Given the description of an element on the screen output the (x, y) to click on. 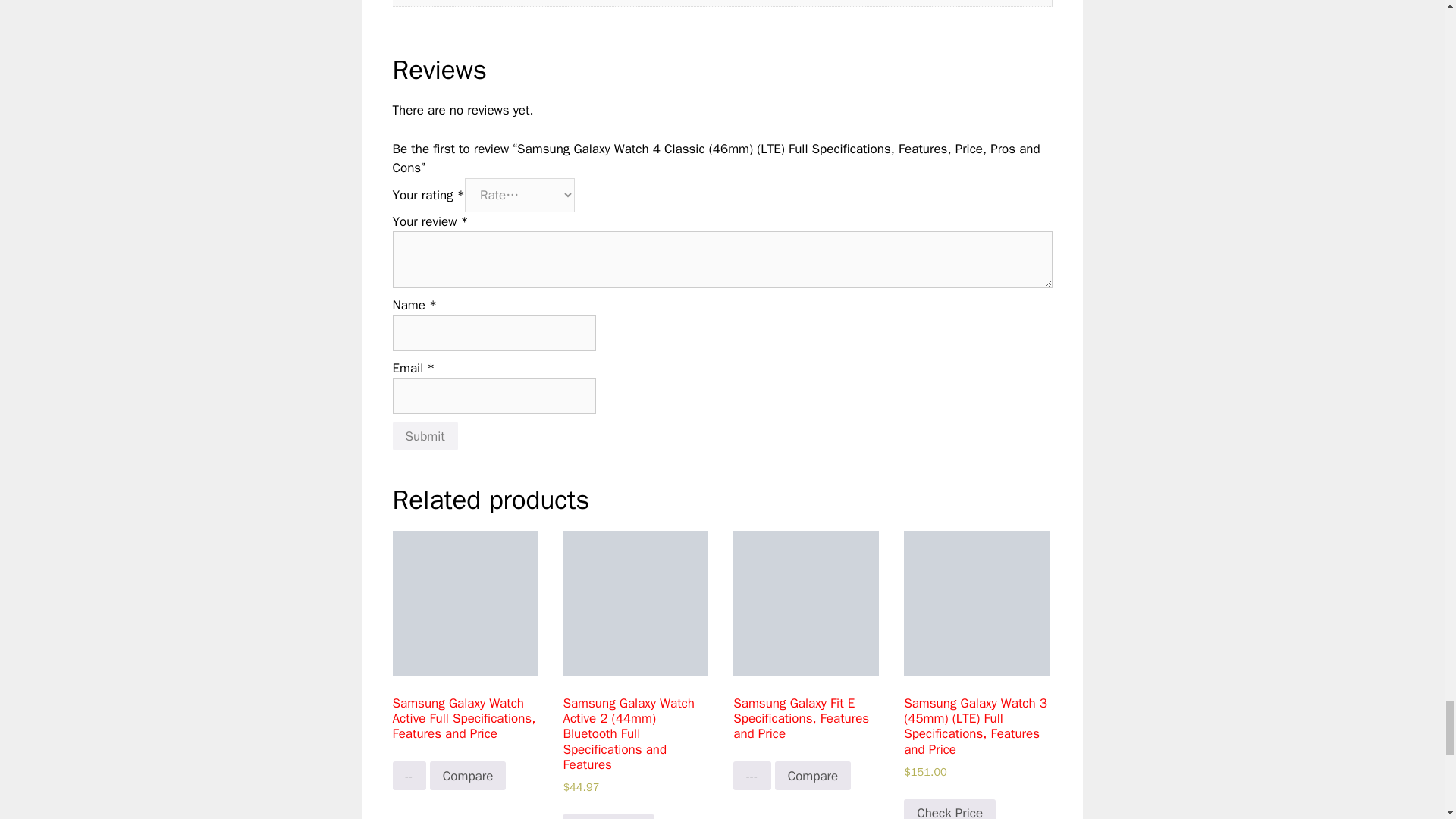
Submit (425, 435)
